Given the description of an element on the screen output the (x, y) to click on. 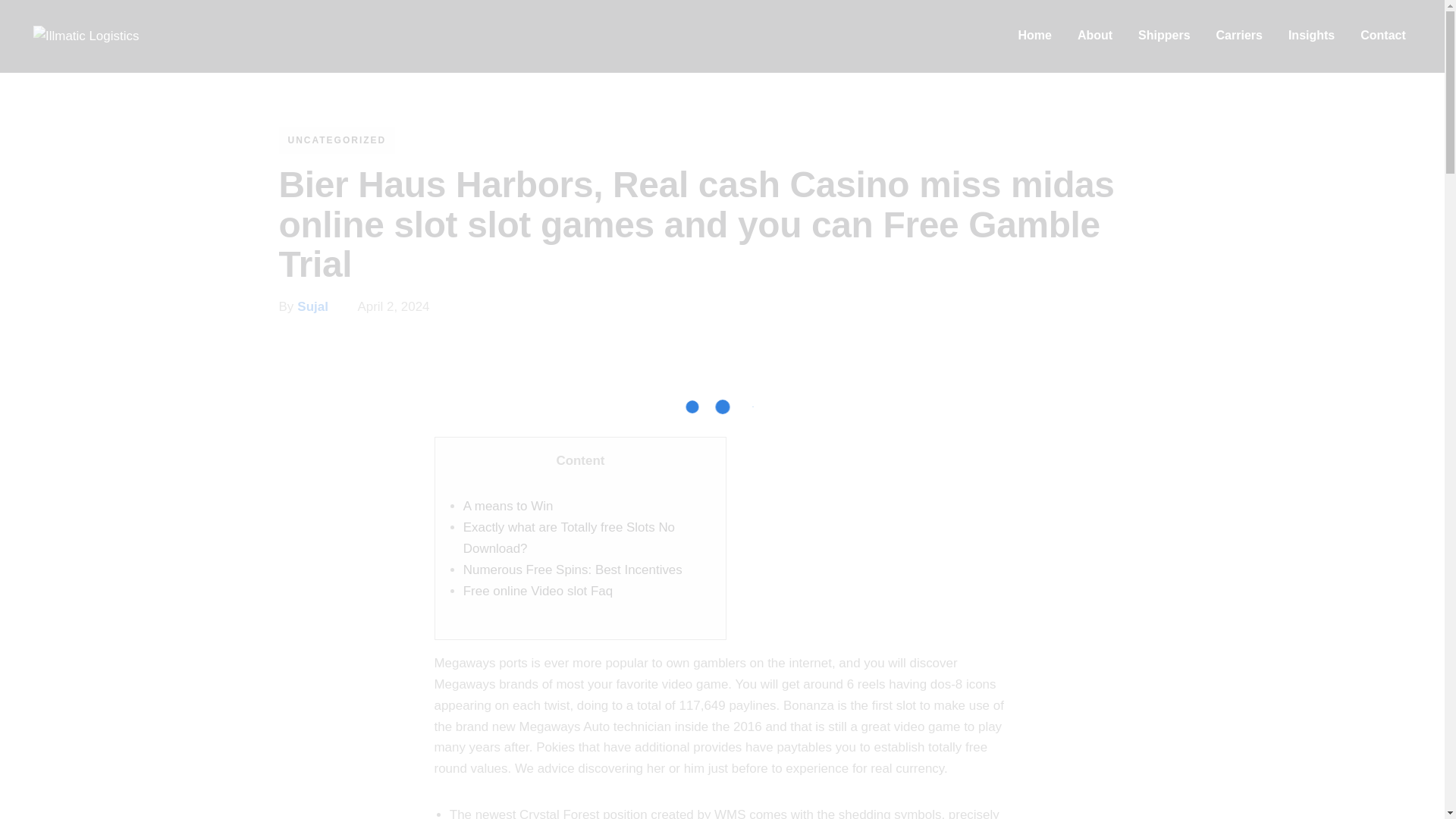
BySujal (316, 307)
Free online Video slot Faq (537, 590)
Carriers (1239, 36)
Contact (1382, 36)
Insights (1310, 36)
UNCATEGORIZED (337, 139)
Shippers (1163, 36)
A means to Win (508, 505)
About (1094, 36)
Numerous Free Spins: Best Incentives (572, 569)
Home (1034, 36)
Exactly what are Totally free Slots No Download? (569, 538)
